Given the description of an element on the screen output the (x, y) to click on. 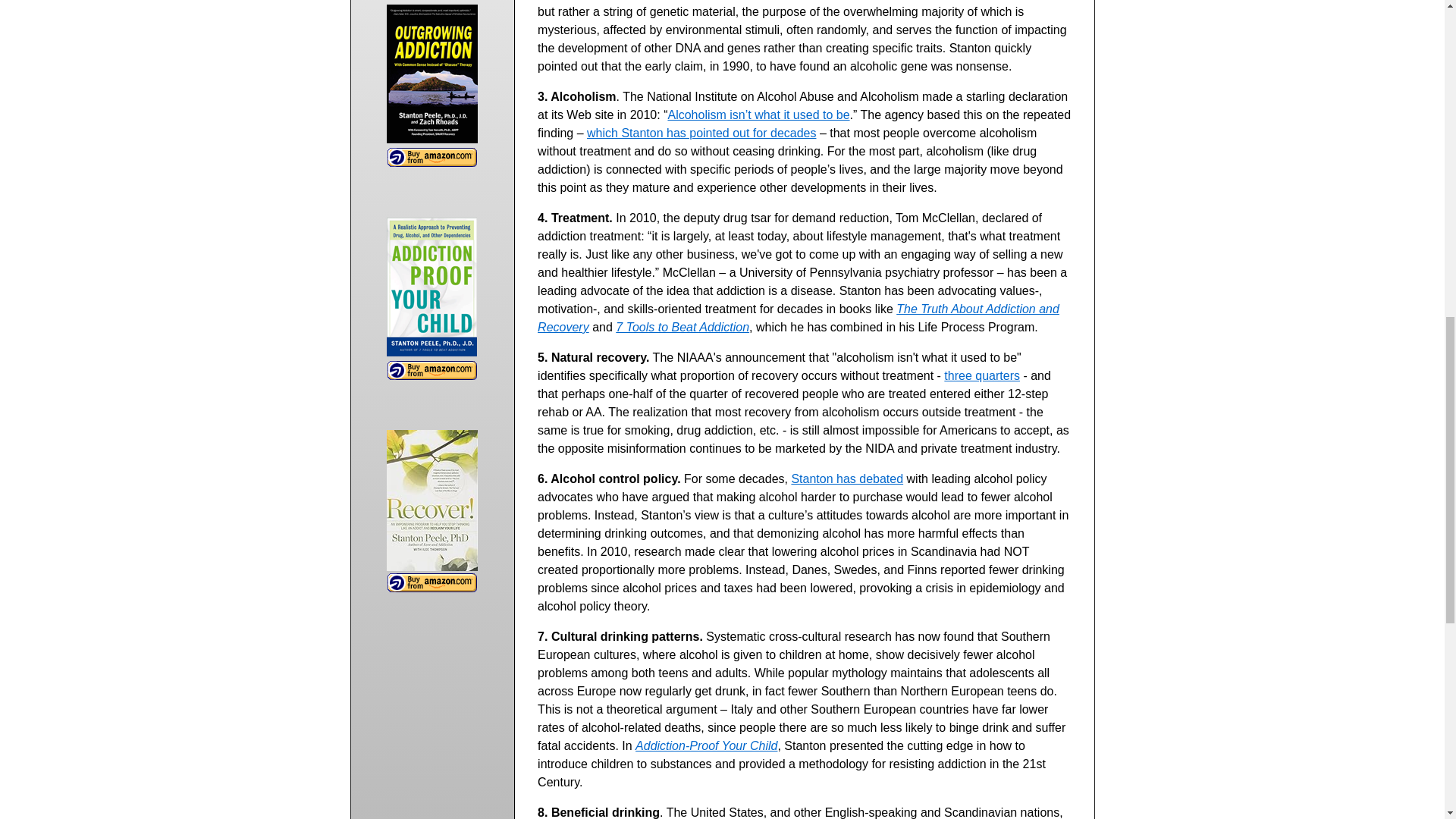
Stanton has debated (846, 478)
Addiction-Proof Your Child (705, 745)
three quarters (981, 375)
The Truth About Addiction and Recovery (798, 317)
which Stanton has pointed out for decades (700, 132)
7 Tools to Beat Addiction (682, 327)
